Given the description of an element on the screen output the (x, y) to click on. 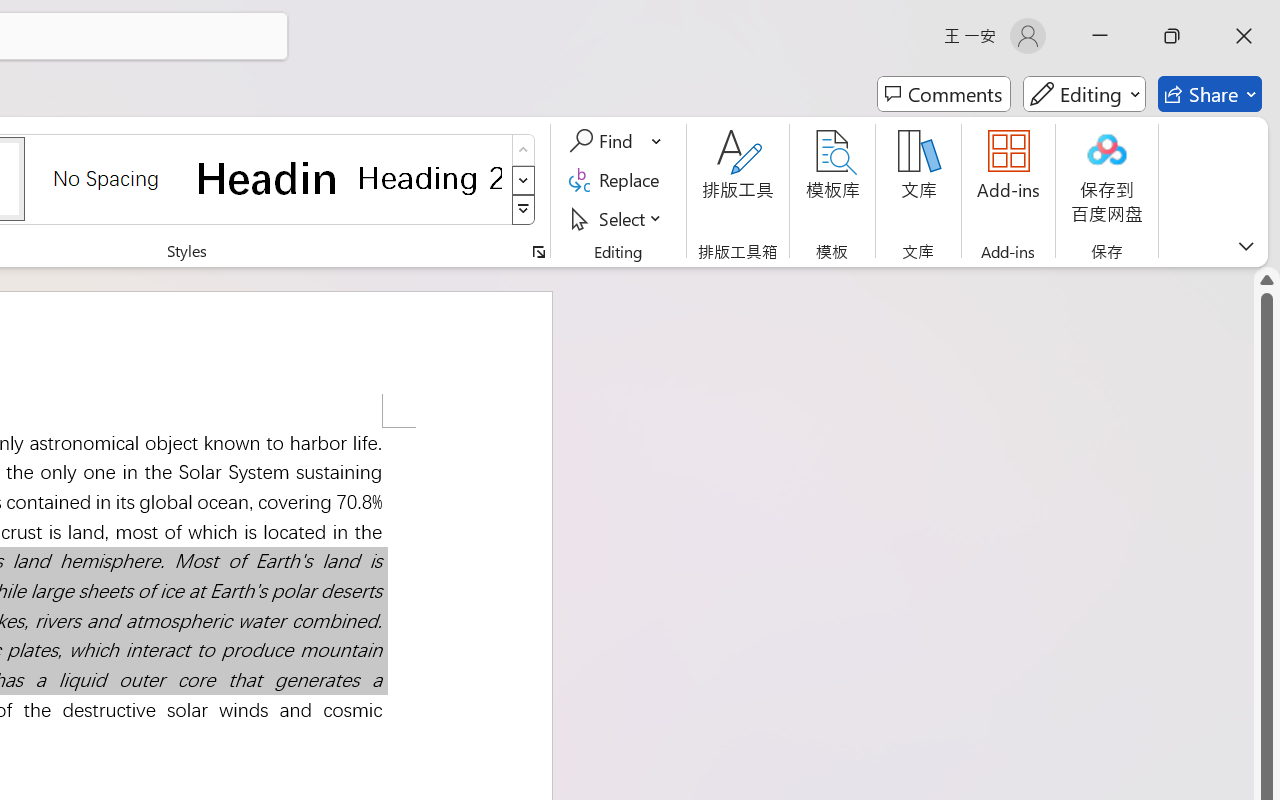
Row up (523, 150)
Styles... (538, 252)
Styles (523, 209)
Select (618, 218)
Row Down (523, 180)
